Given the description of an element on the screen output the (x, y) to click on. 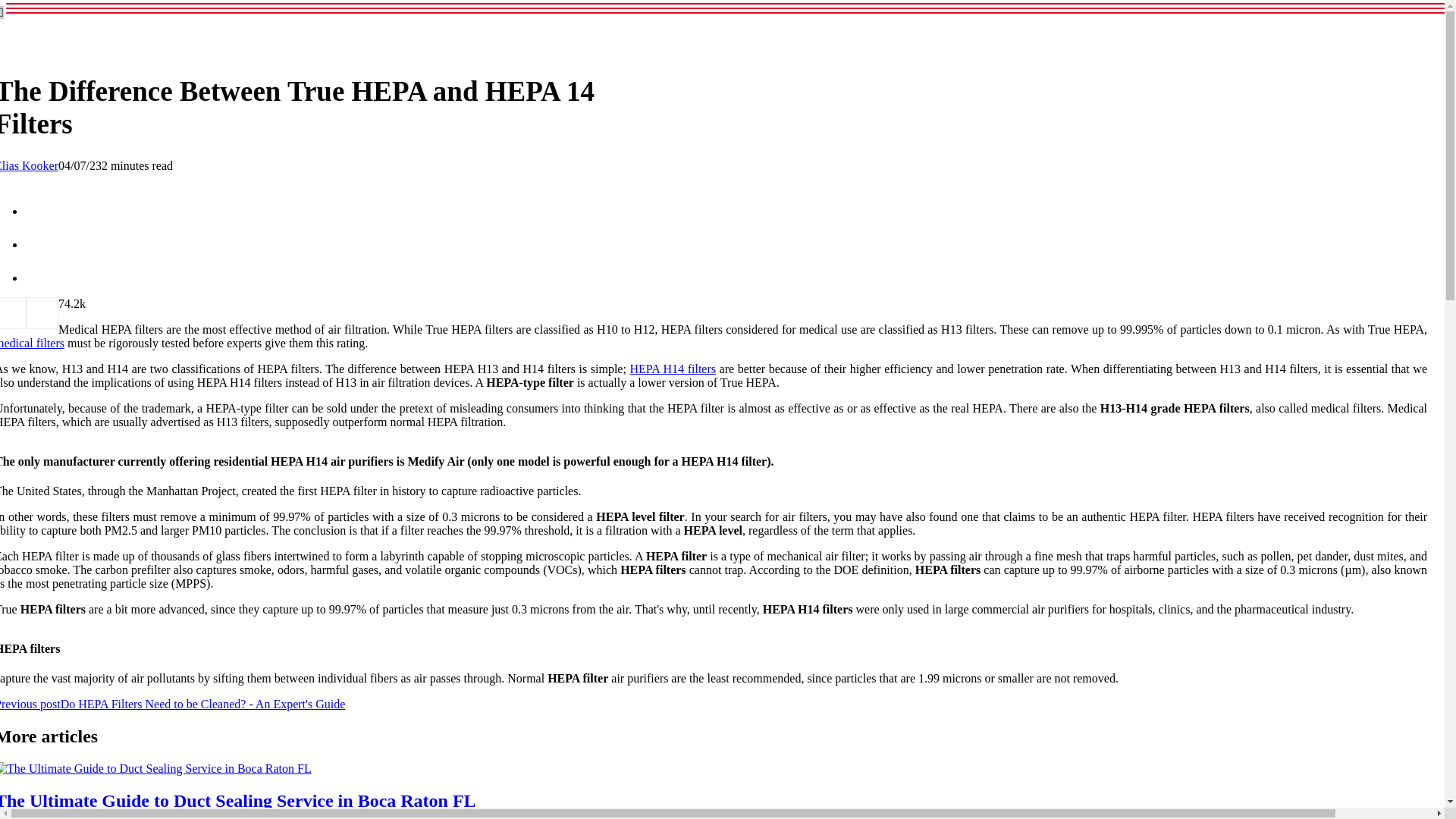
medical filters (32, 342)
The Ultimate Guide to Duct Sealing Service in Boca Raton FL (238, 800)
HEPA H14 filters (671, 368)
Elias Kooker (29, 164)
Posts by Elias Kooker (29, 164)
